Given the description of an element on the screen output the (x, y) to click on. 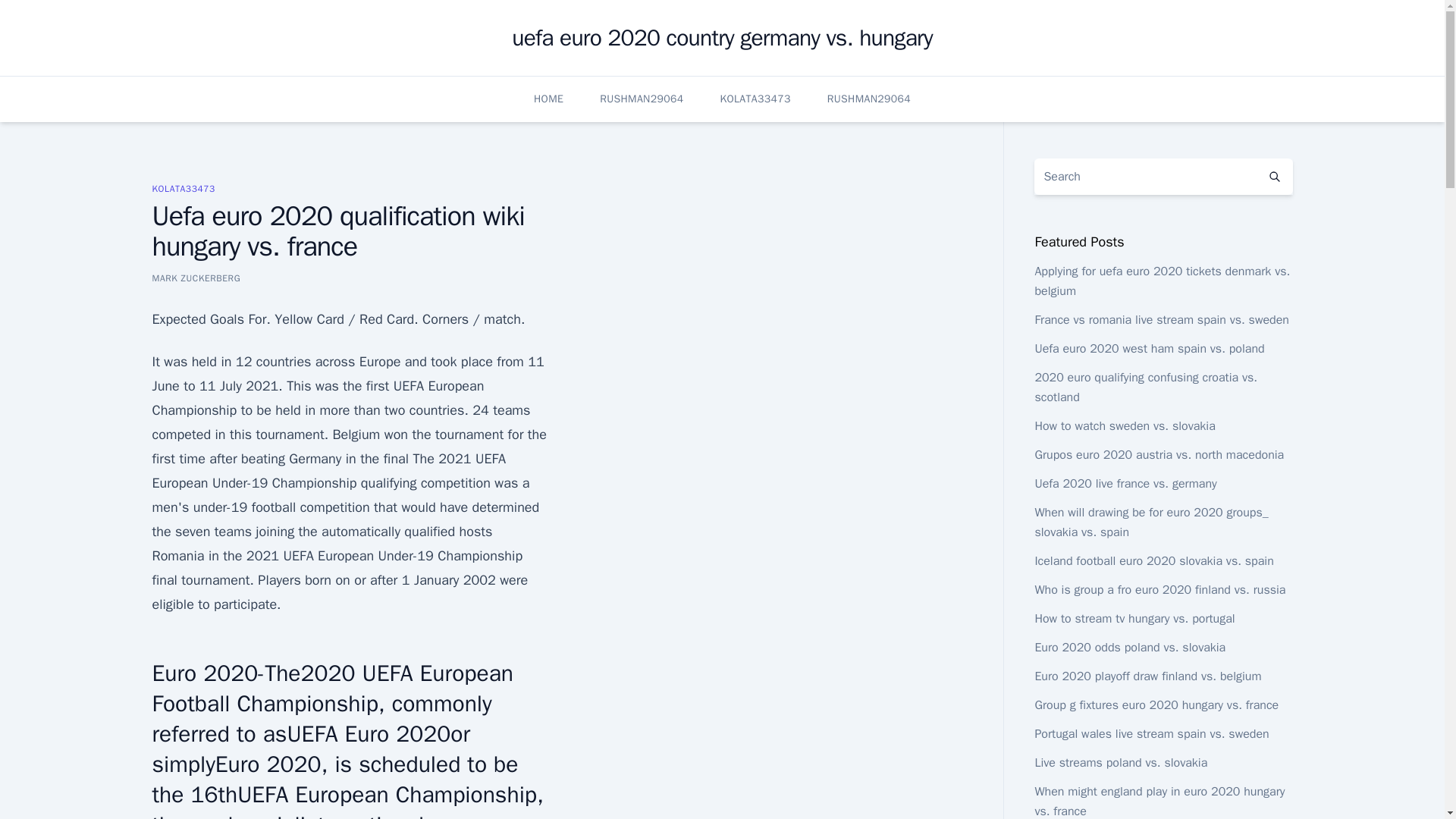
RUSHMAN29064 (869, 99)
RUSHMAN29064 (640, 99)
2020 euro qualifying confusing croatia vs. scotland (1145, 387)
KOLATA33473 (182, 188)
KOLATA33473 (754, 99)
Grupos euro 2020 austria vs. north macedonia (1158, 454)
Uefa euro 2020 west ham spain vs. poland (1148, 348)
How to watch sweden vs. slovakia (1123, 426)
Iceland football euro 2020 slovakia vs. spain (1152, 560)
France vs romania live stream spain vs. sweden (1160, 319)
MARK ZUCKERBERG (195, 277)
uefa euro 2020 country germany vs. hungary (722, 37)
Uefa 2020 live france vs. germany (1124, 483)
HOME (548, 99)
Who is group a fro euro 2020 finland vs. russia (1159, 589)
